Given the description of an element on the screen output the (x, y) to click on. 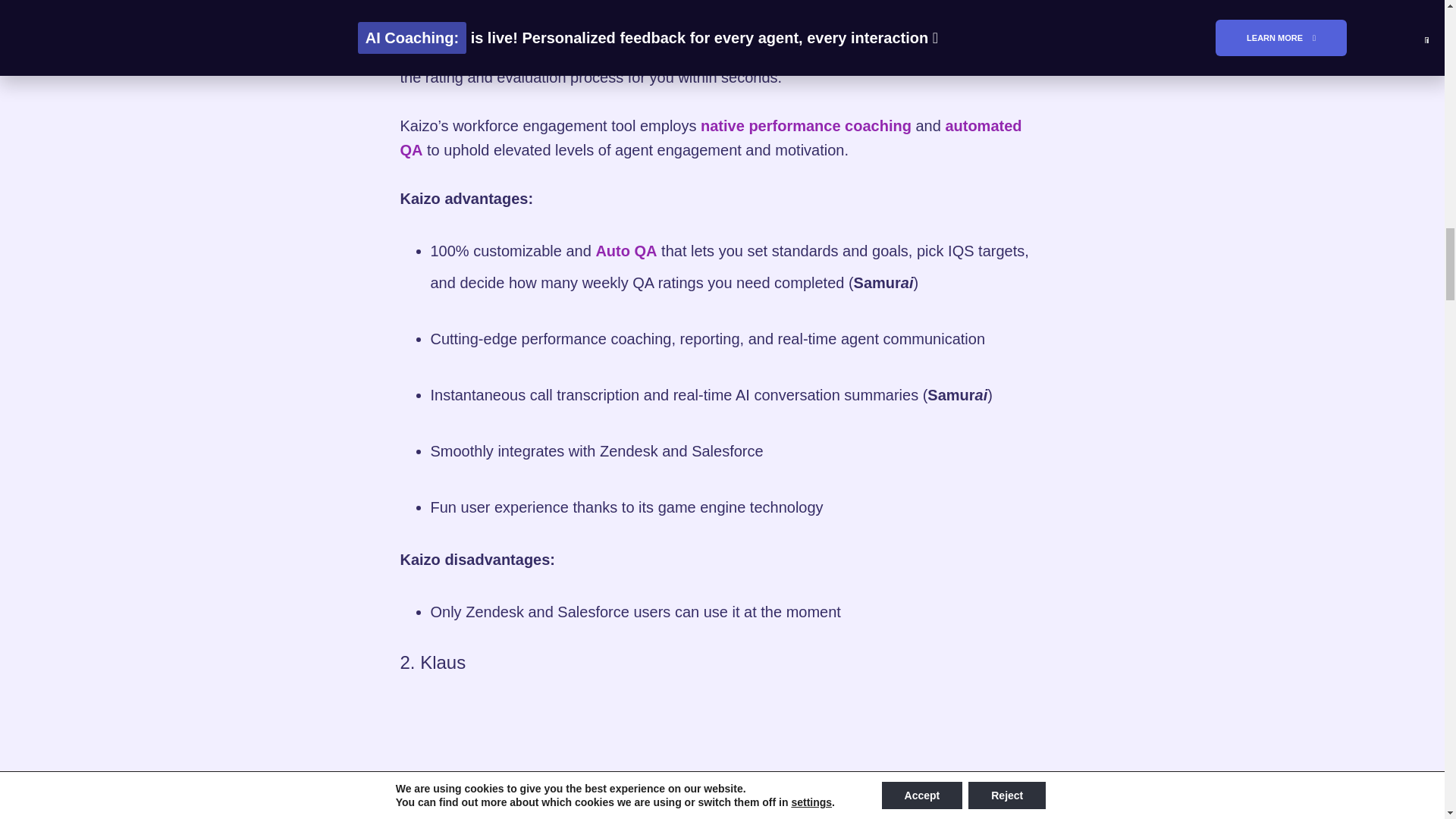
automated QA (711, 137)
Samurai (430, 53)
native performance coaching (805, 125)
Auto QA (625, 250)
